Given the description of an element on the screen output the (x, y) to click on. 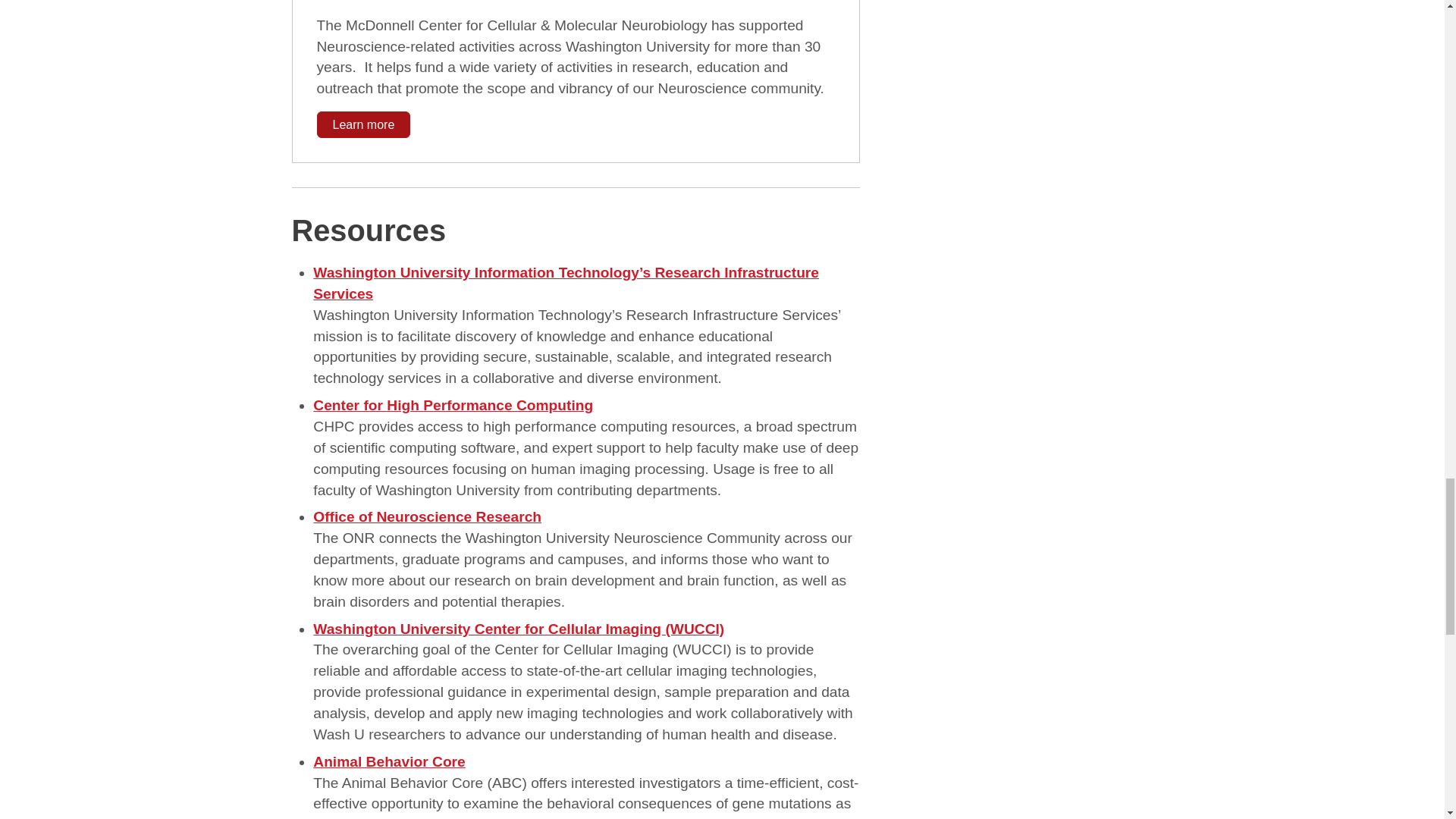
Office of Neuroscience Research (427, 516)
Animal Behavior Core (388, 761)
Center for High Performance Computing (452, 405)
Learn more (363, 124)
